Given the description of an element on the screen output the (x, y) to click on. 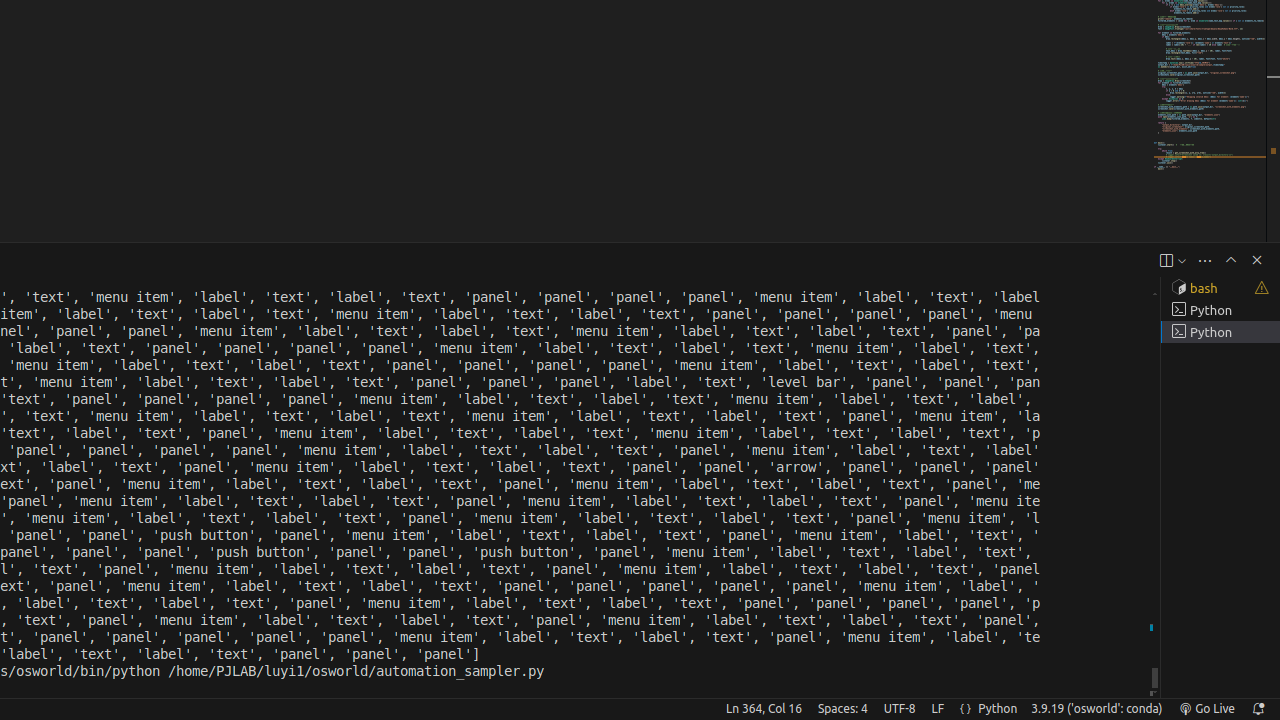
Python Element type: push-button (998, 709)
Notifications Element type: push-button (1258, 709)
broadcast Go Live, Click to run live server Element type: push-button (1206, 709)
Maximize Panel Size Element type: check-box (1231, 260)
Terminal 1 bash Element type: list-item (1220, 288)
